Given the description of an element on the screen output the (x, y) to click on. 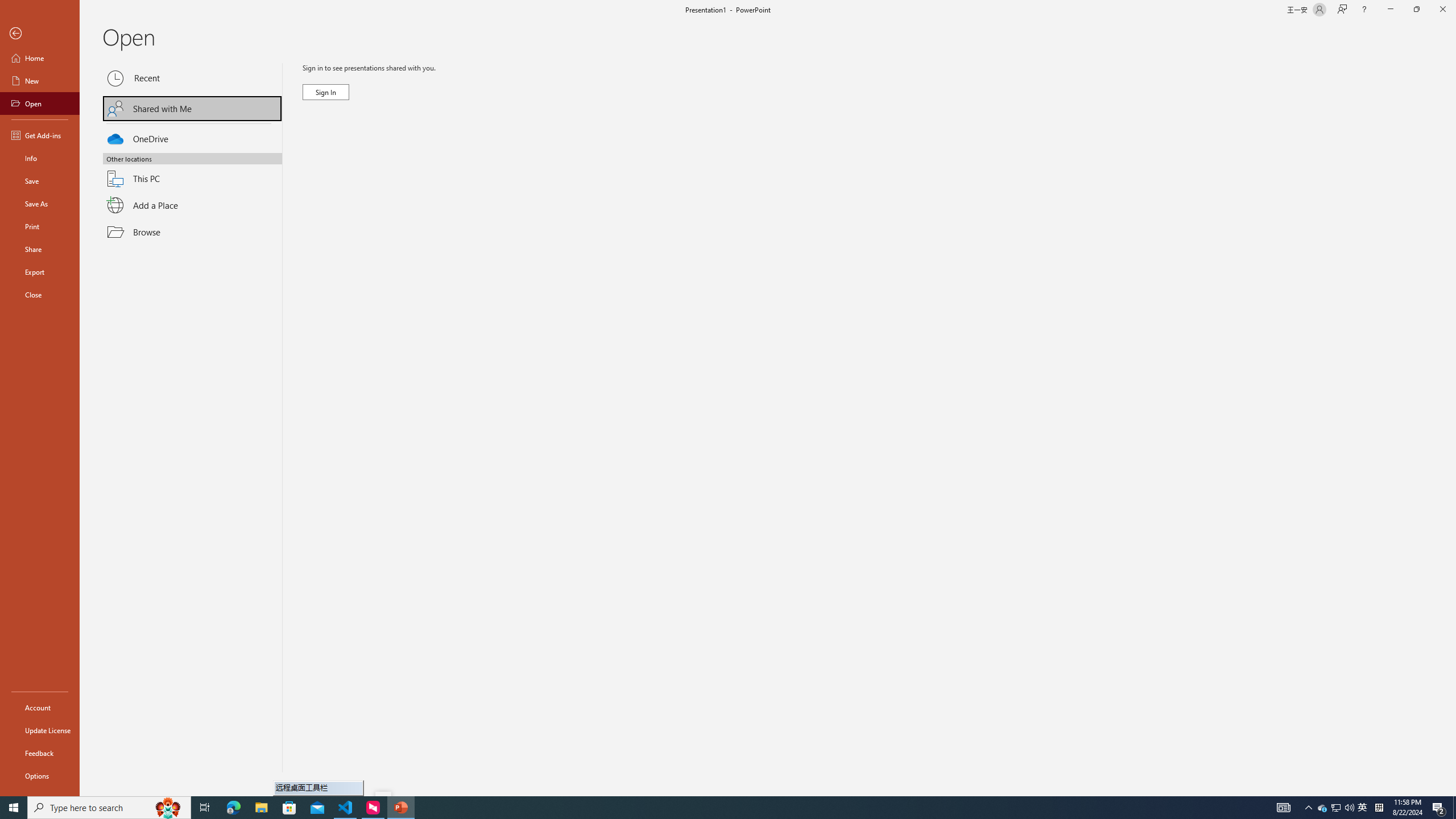
Info (40, 157)
Feedback (40, 753)
OneDrive (192, 136)
Add a Place (192, 204)
Save As (40, 203)
Back (40, 33)
Update License (40, 730)
Print (40, 225)
